Given the description of an element on the screen output the (x, y) to click on. 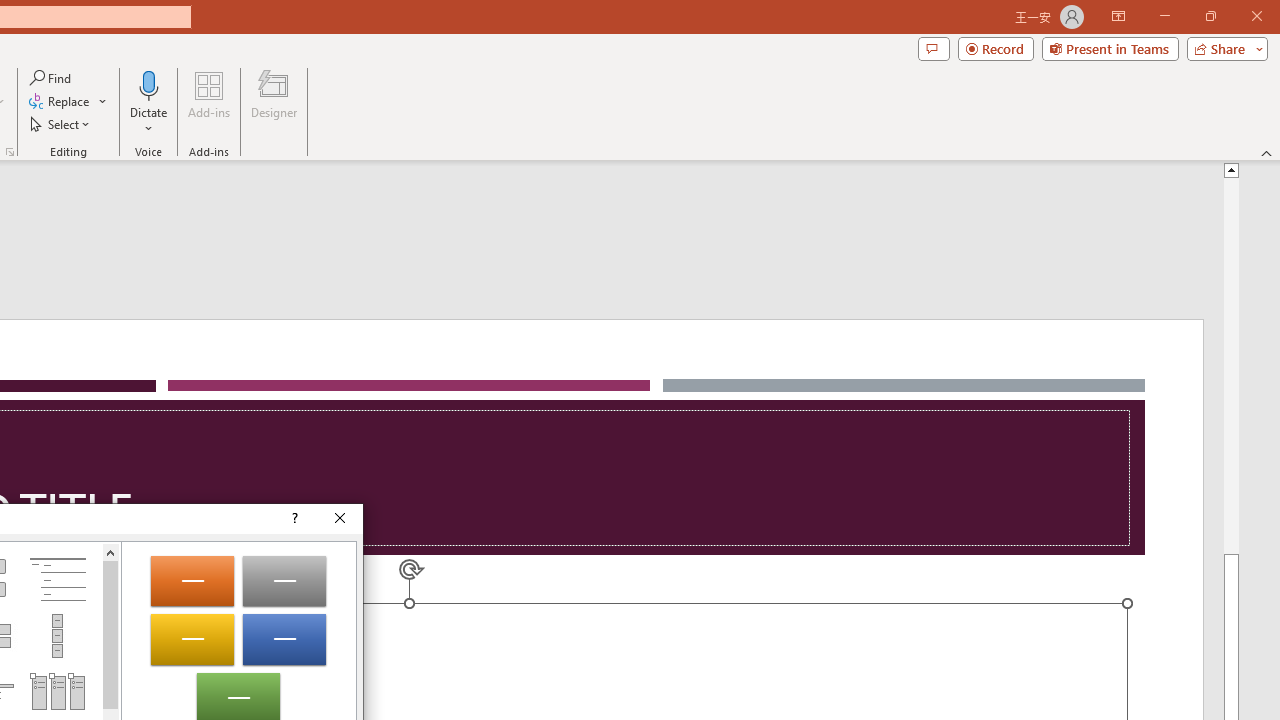
Lined List (57, 579)
Select (61, 124)
Present in Teams (1109, 48)
Format Object... (9, 151)
Restore Down (1210, 16)
Designer (274, 102)
Ribbon Display Options (1118, 16)
Collapse the Ribbon (1267, 152)
Comments (933, 48)
Minimize (1164, 16)
Find... (51, 78)
Close (340, 518)
Dictate (149, 102)
Context help (293, 518)
